Given the description of an element on the screen output the (x, y) to click on. 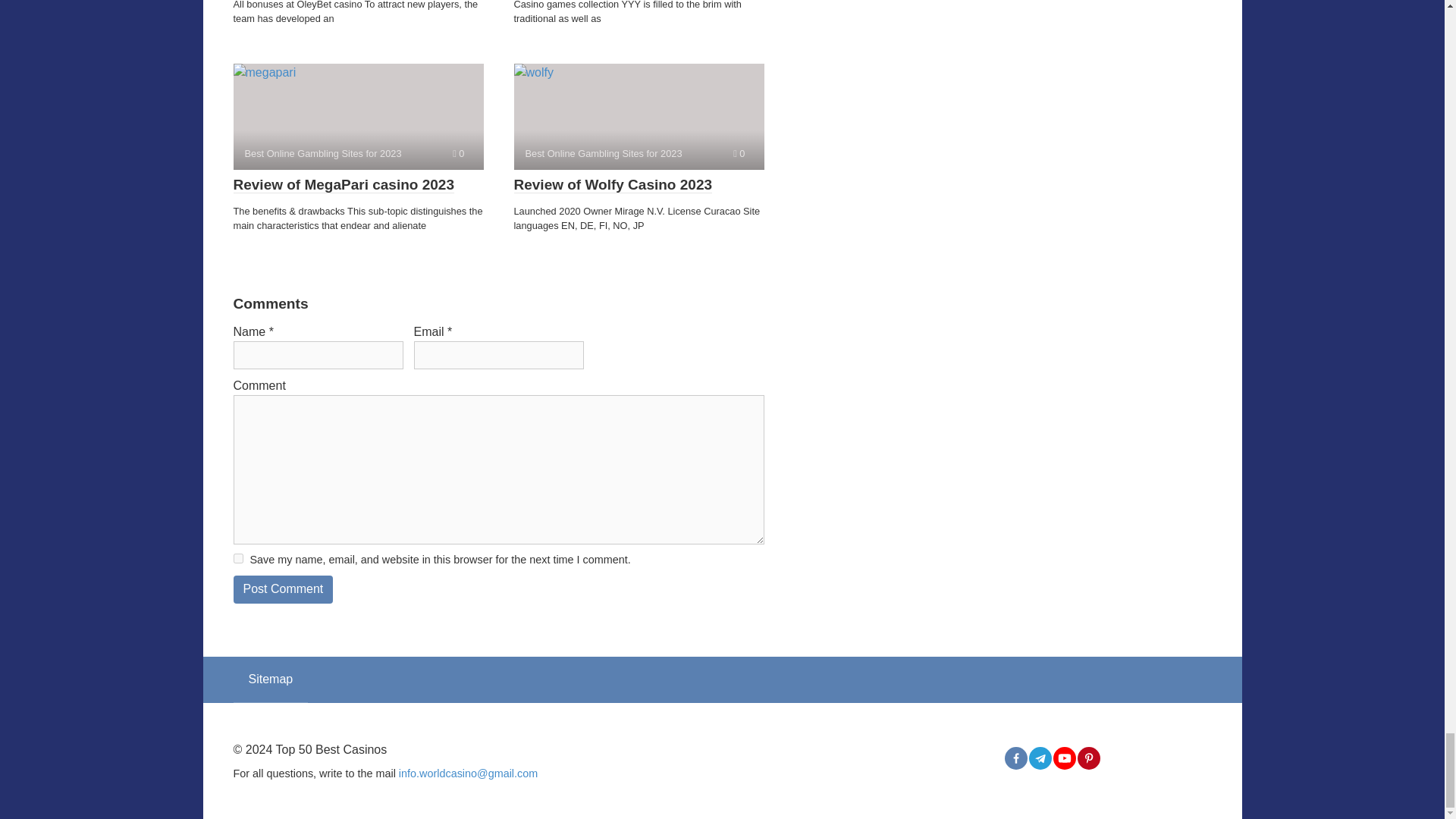
Post Comment (282, 589)
yes (237, 558)
Comments (738, 153)
Comments (458, 153)
